Given the description of an element on the screen output the (x, y) to click on. 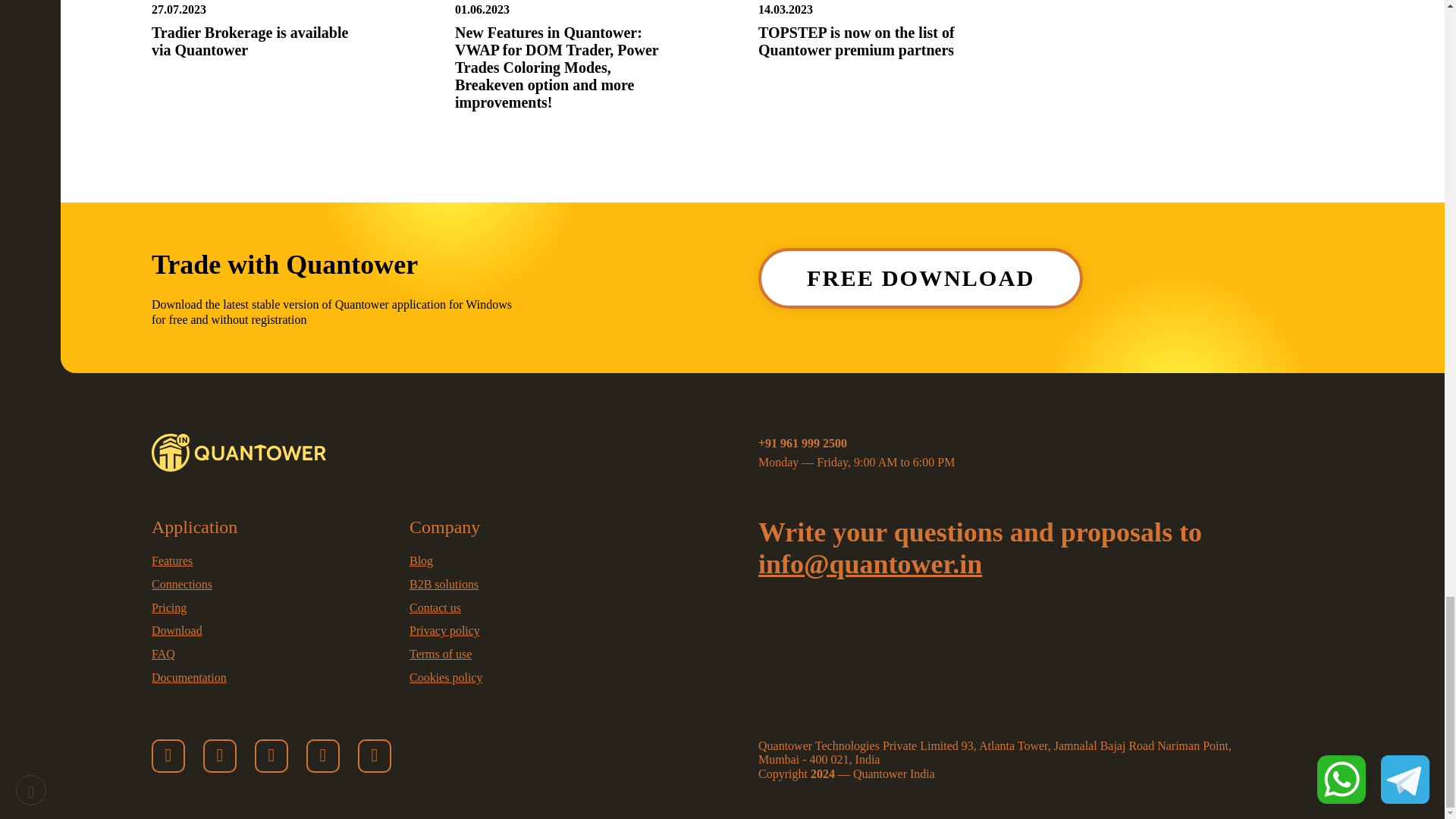
Connections (181, 584)
Cookies policy (445, 676)
Contact us (435, 607)
Download (176, 630)
FREE DOWNLOAD (920, 278)
FAQ (162, 653)
Terms of use (440, 653)
Privacy policy (444, 630)
Features (257, 29)
Pricing (171, 560)
Blog (168, 607)
B2B solutions (420, 560)
